Given the description of an element on the screen output the (x, y) to click on. 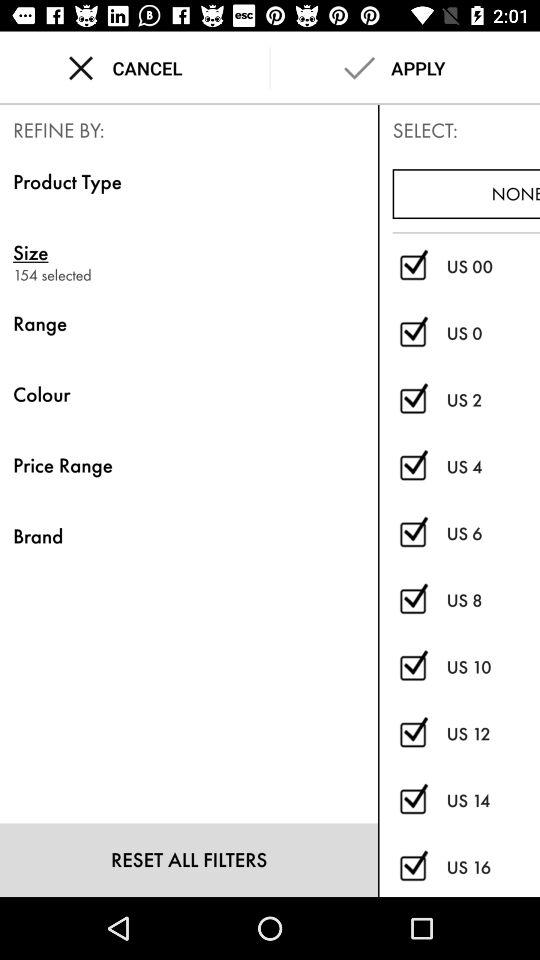
turn off item below the us 10 icon (493, 734)
